Given the description of an element on the screen output the (x, y) to click on. 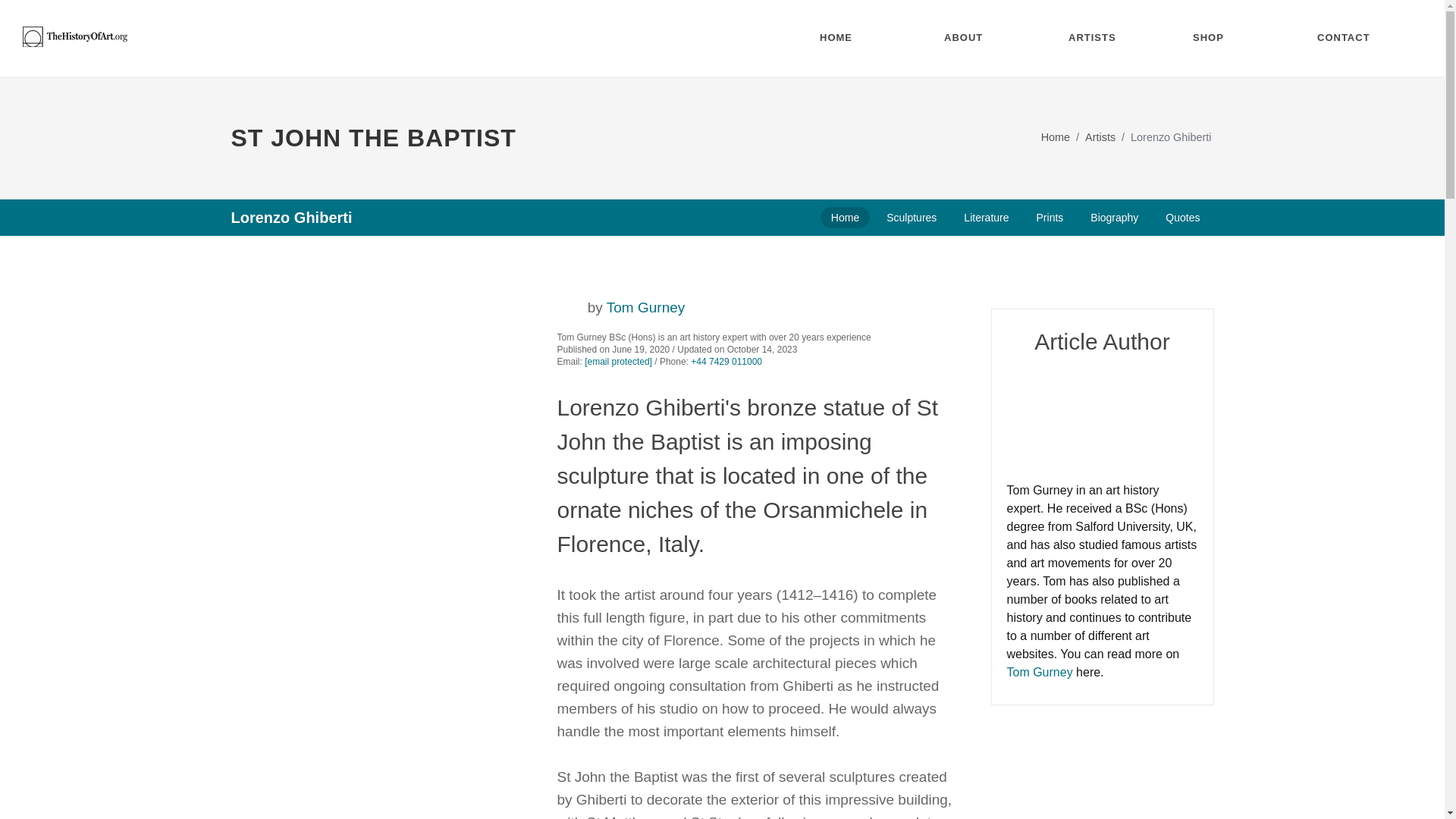
HOME (850, 38)
ARTISTS (1099, 38)
ABOUT (975, 38)
